Given the description of an element on the screen output the (x, y) to click on. 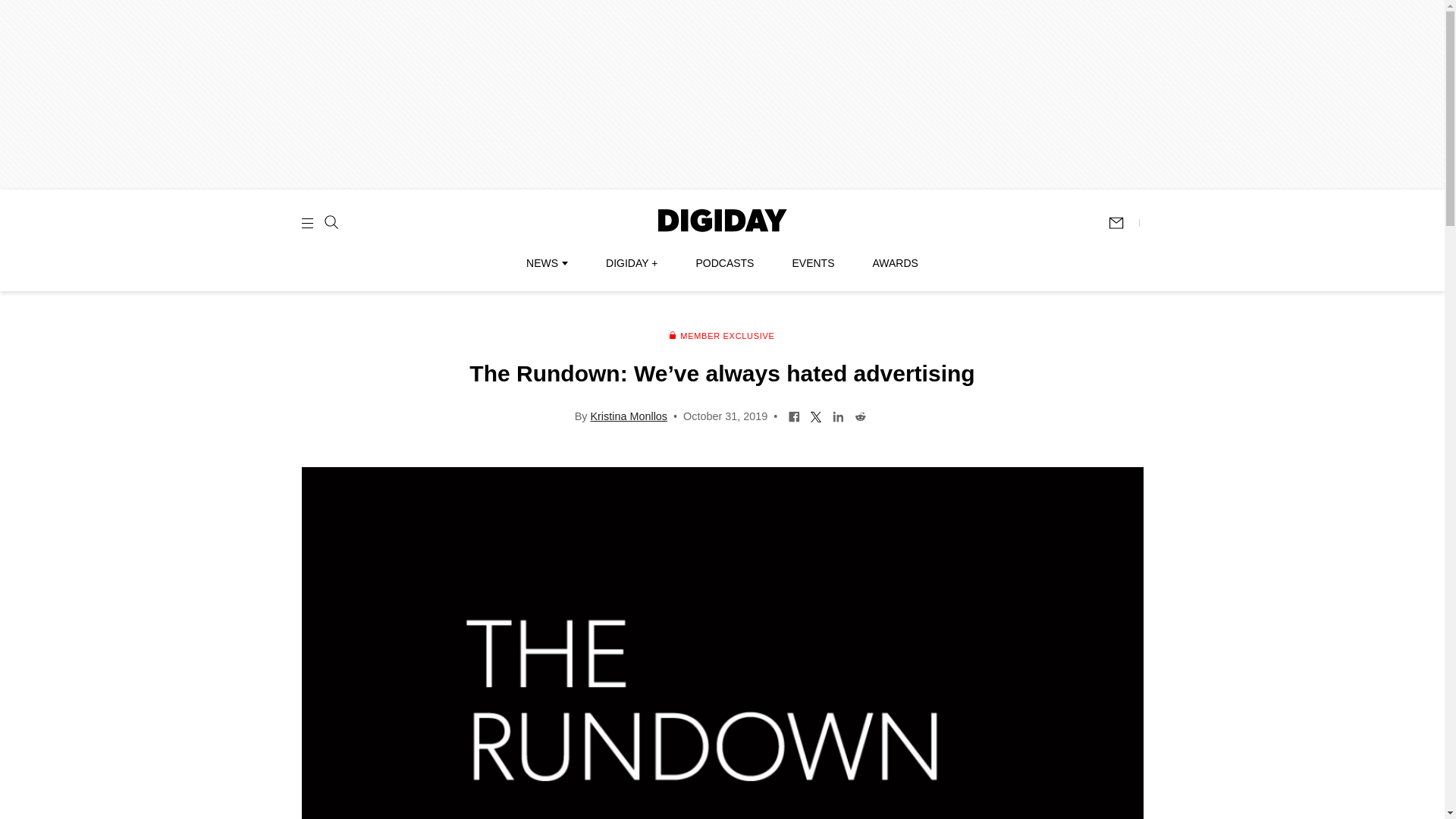
Share on Twitter (815, 415)
EVENTS (813, 262)
Share on Facebook (793, 415)
AWARDS (894, 262)
NEWS (546, 262)
Share on LinkedIn (837, 415)
Subscribe (1123, 223)
PODCASTS (725, 262)
Share on Reddit (859, 415)
